Given the description of an element on the screen output the (x, y) to click on. 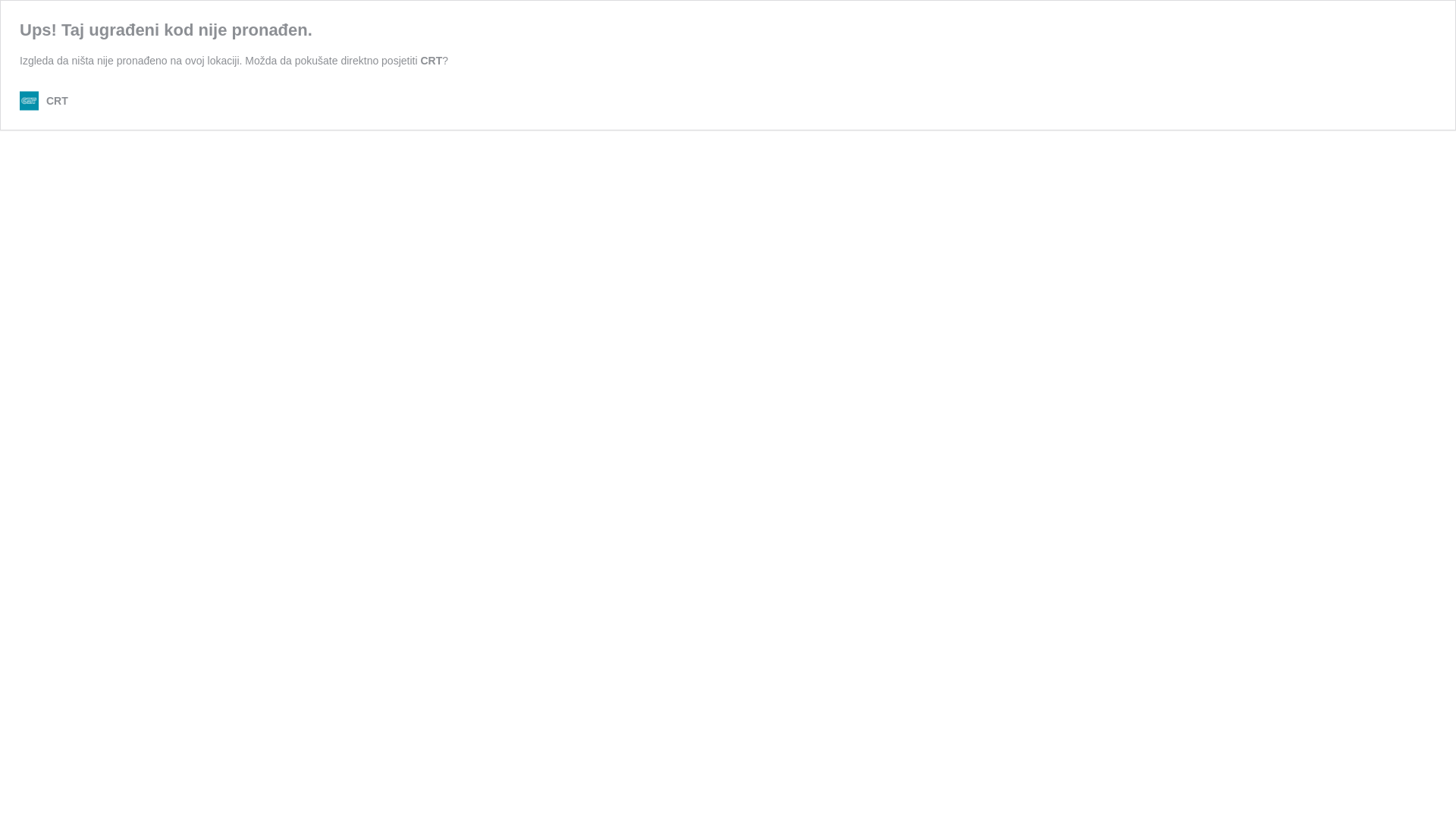
CRT Element type: text (431, 60)
CRT Element type: text (43, 100)
